Given the description of an element on the screen output the (x, y) to click on. 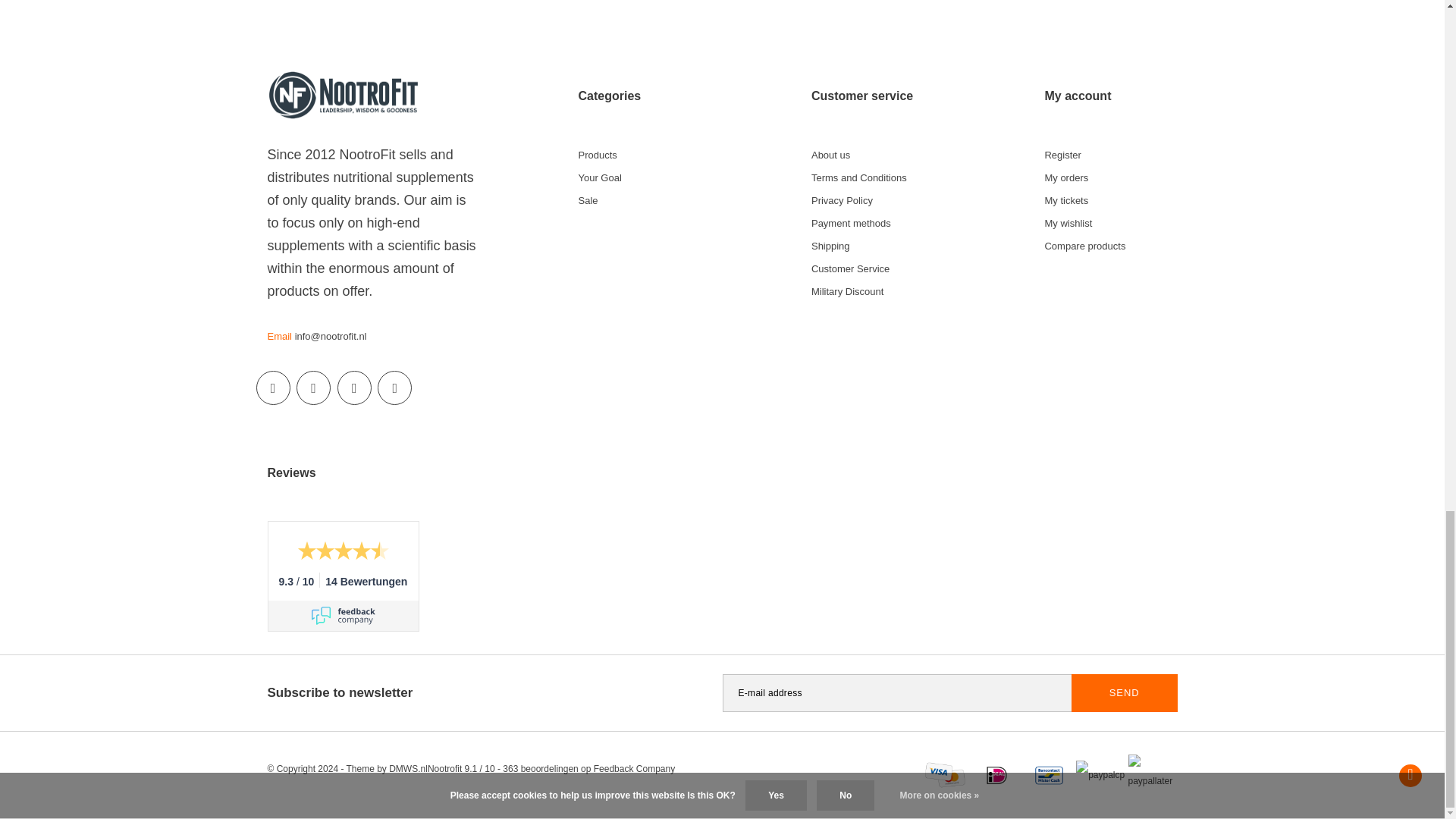
Instagram NootroFit (342, 615)
Register (313, 387)
My orders (1061, 154)
